Given the description of an element on the screen output the (x, y) to click on. 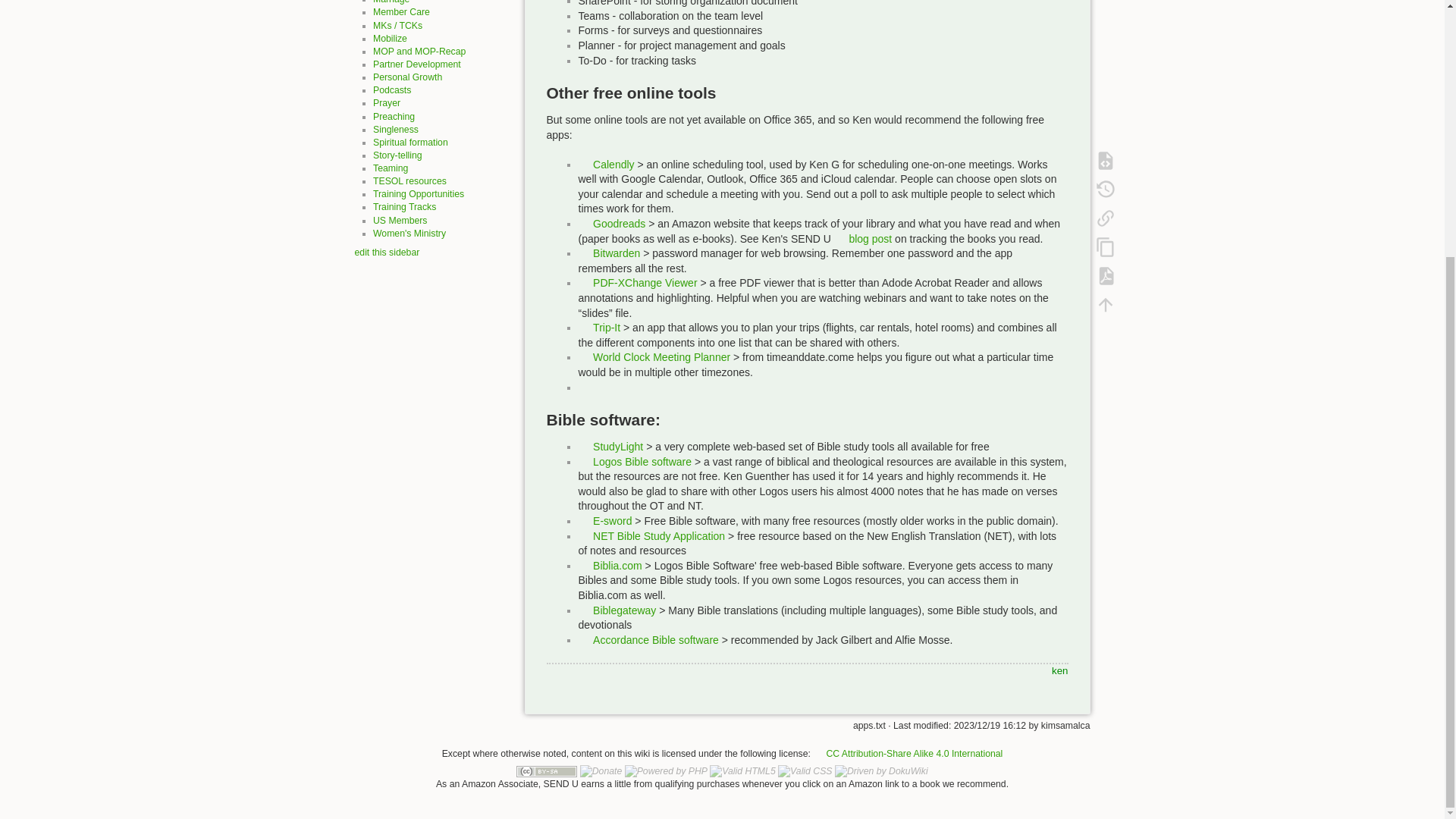
Personal Growth (407, 77)
Partner Development (416, 63)
Story-telling (397, 154)
Preaching (393, 116)
Podcasts (391, 90)
Mobilize (389, 38)
Prayer (386, 102)
MOP and MOP-Recap (418, 50)
Marriage (390, 2)
Member Care (400, 11)
